Given the description of an element on the screen output the (x, y) to click on. 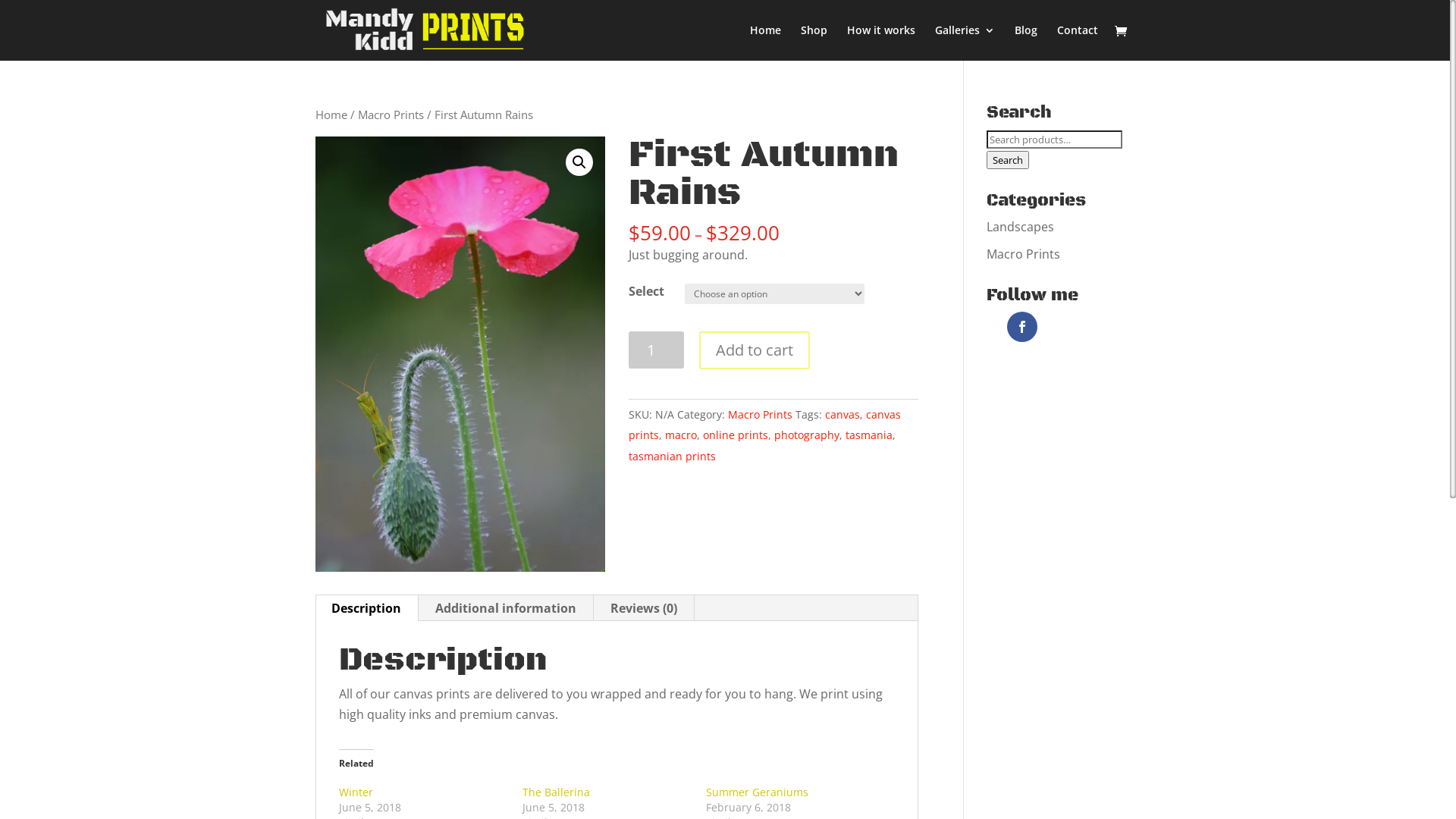
Shop Element type: text (813, 42)
How it works Element type: text (881, 42)
Reviews (0) Element type: text (643, 608)
Search Element type: text (1007, 159)
Home Element type: text (765, 42)
canvas Element type: text (842, 414)
Macro Prints Element type: text (1023, 253)
Macro Prints Element type: text (390, 114)
Summer Geraniums Element type: text (757, 791)
canvas prints Element type: text (764, 424)
Add to cart Element type: text (754, 350)
tasmanian prints Element type: text (671, 455)
Description Element type: text (365, 608)
macro Element type: text (680, 434)
The Ballerina Element type: text (555, 791)
Landscapes Element type: text (1020, 226)
Galleries Element type: text (964, 42)
Contact Element type: text (1077, 42)
first autumn rains Element type: hover (460, 353)
photography Element type: text (806, 434)
tasmania Element type: text (868, 434)
Blog Element type: text (1025, 42)
Home Element type: text (331, 114)
Macro Prints Element type: text (760, 414)
online prints Element type: text (735, 434)
Additional information Element type: text (505, 608)
Winter Element type: text (355, 791)
Qty Element type: hover (656, 349)
